Given the description of an element on the screen output the (x, y) to click on. 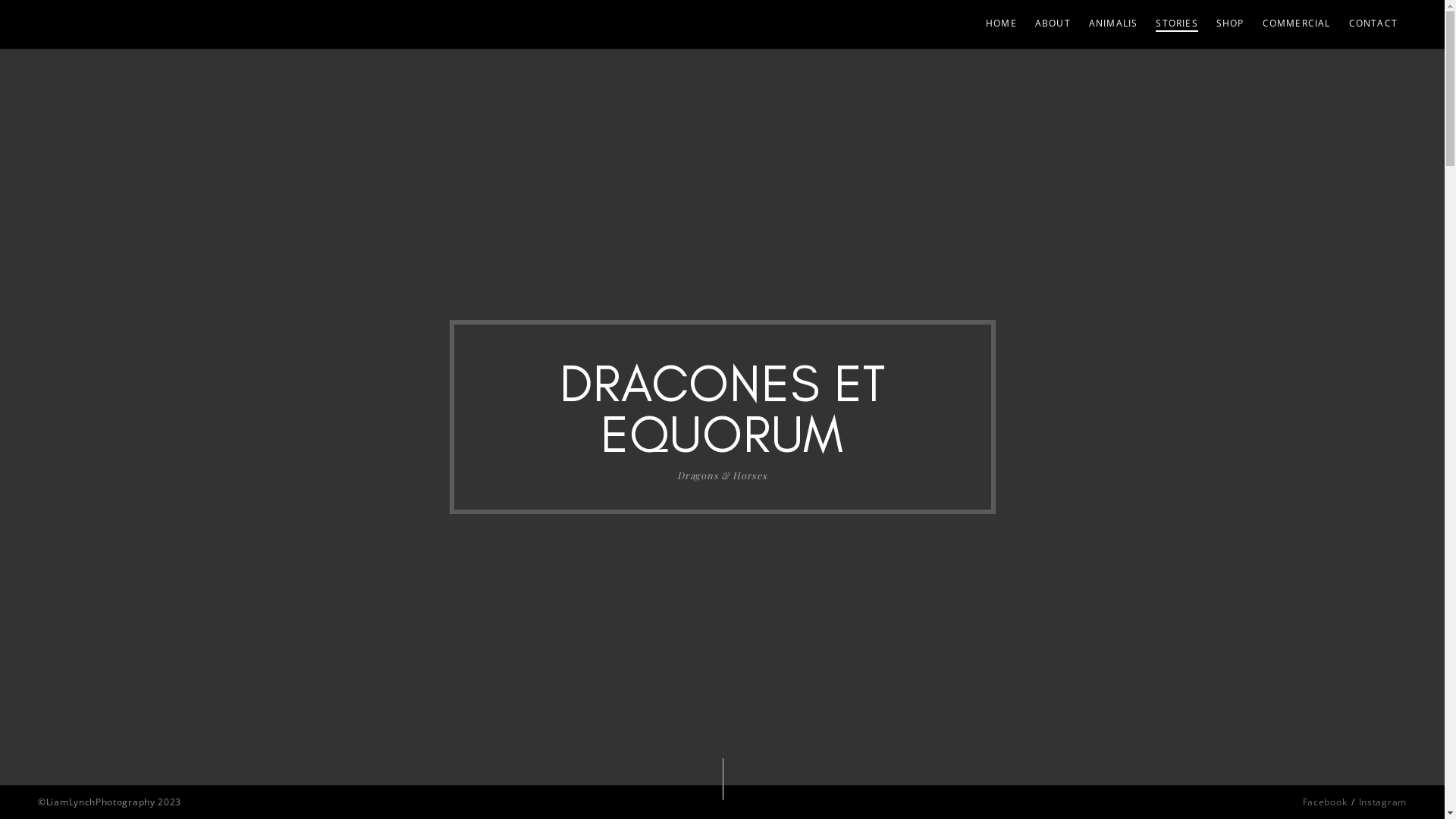
ABOUT Element type: text (1052, 24)
Facebook Element type: text (1324, 801)
Instagram Element type: text (1382, 801)
HOME Element type: text (1001, 24)
ANIMALIS Element type: text (1113, 24)
COMMERCIAL Element type: text (1296, 24)
STORIES Element type: text (1176, 24)
SHOP Element type: text (1230, 24)
CONTACT Element type: text (1372, 24)
